Given the description of an element on the screen output the (x, y) to click on. 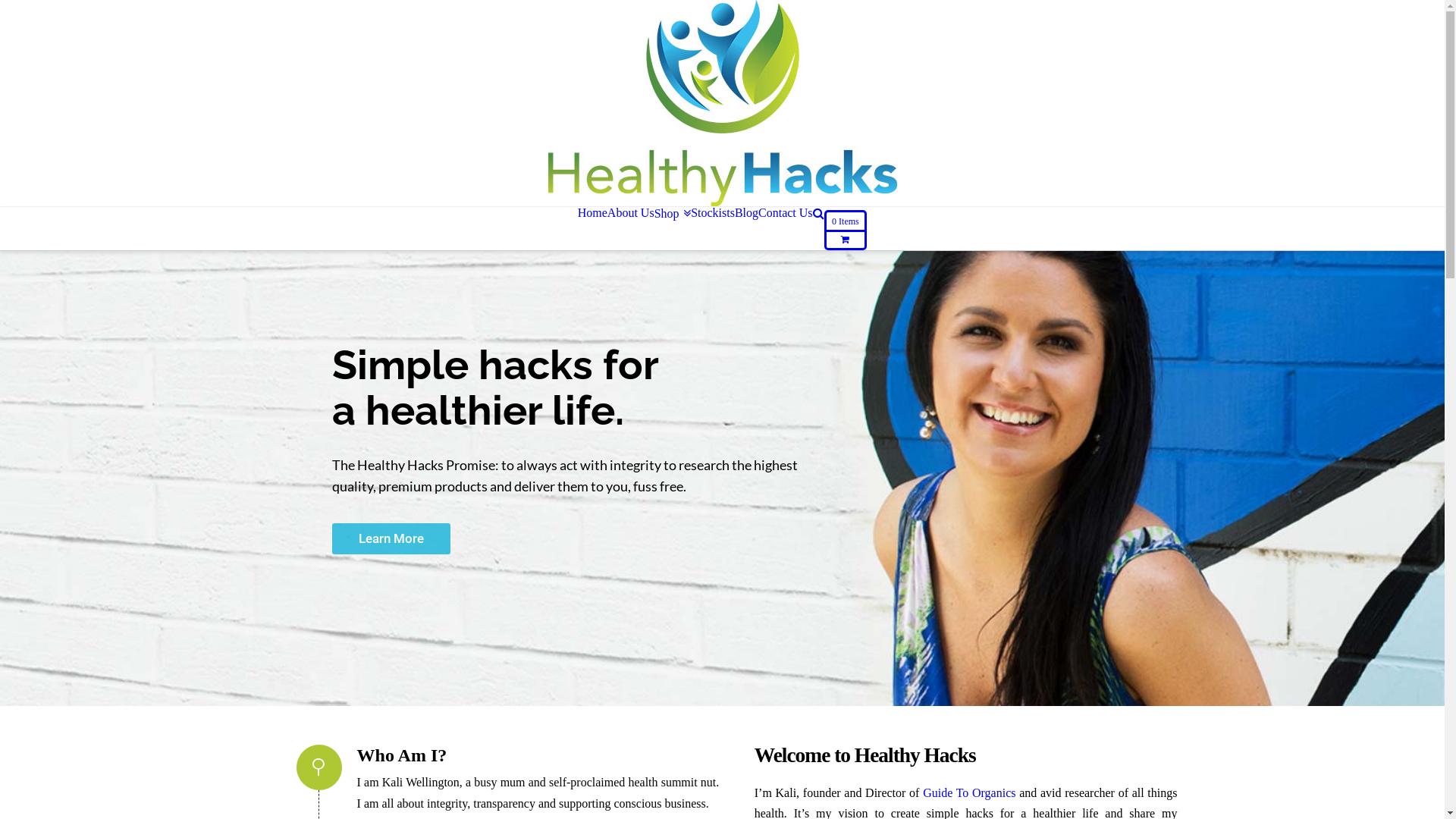
Home Element type: text (592, 213)
Stockists Element type: text (712, 213)
0 Items Element type: text (845, 228)
Blog Element type: text (746, 213)
About Us Element type: text (630, 213)
Contact Us Element type: text (785, 213)
Hack Your Way To A Healthier Life Element type: hover (721, 103)
Guide To Organics Element type: text (968, 792)
Shop Element type: text (672, 213)
